Given the description of an element on the screen output the (x, y) to click on. 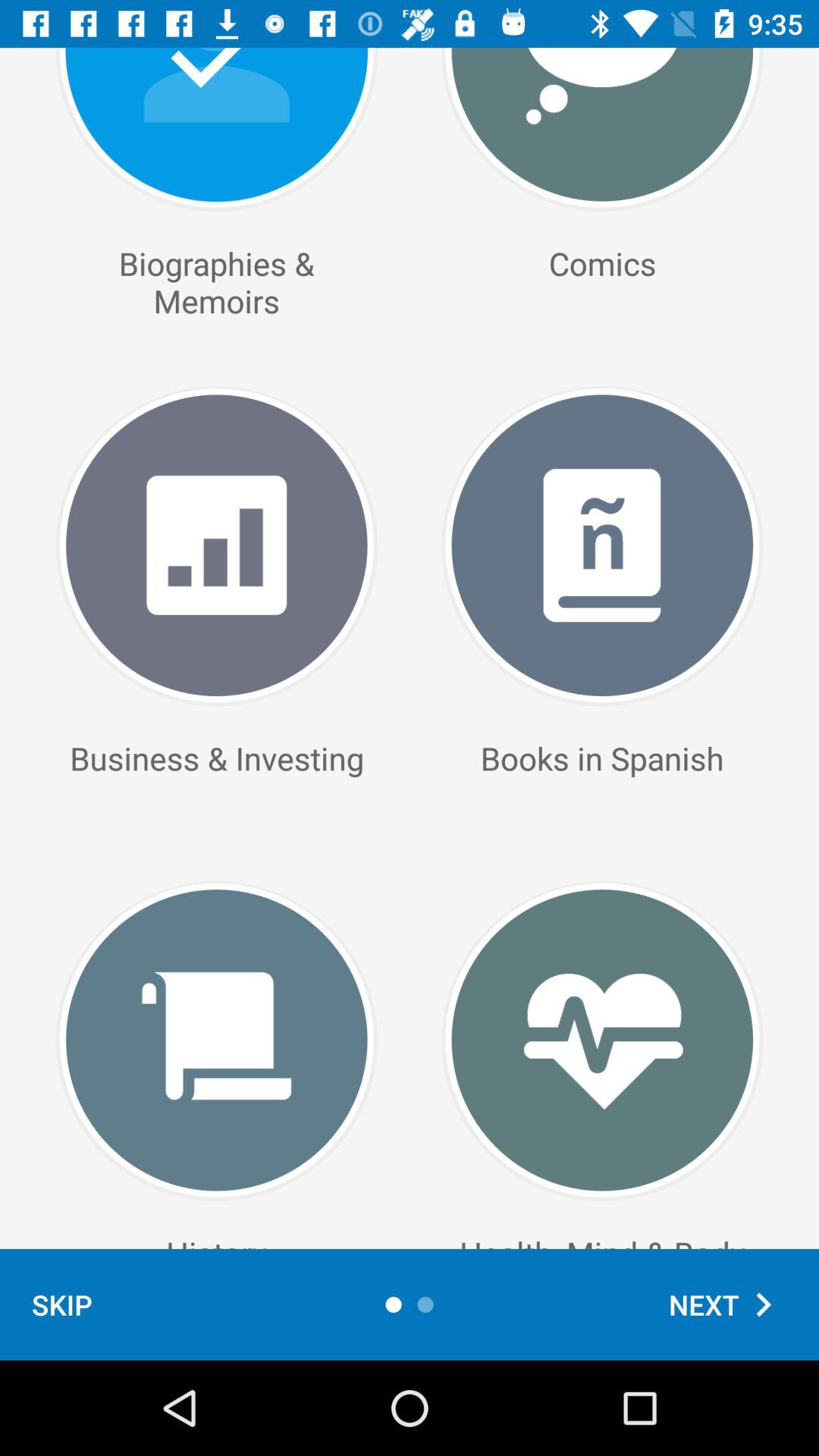
select the skip item (61, 1304)
